Given the description of an element on the screen output the (x, y) to click on. 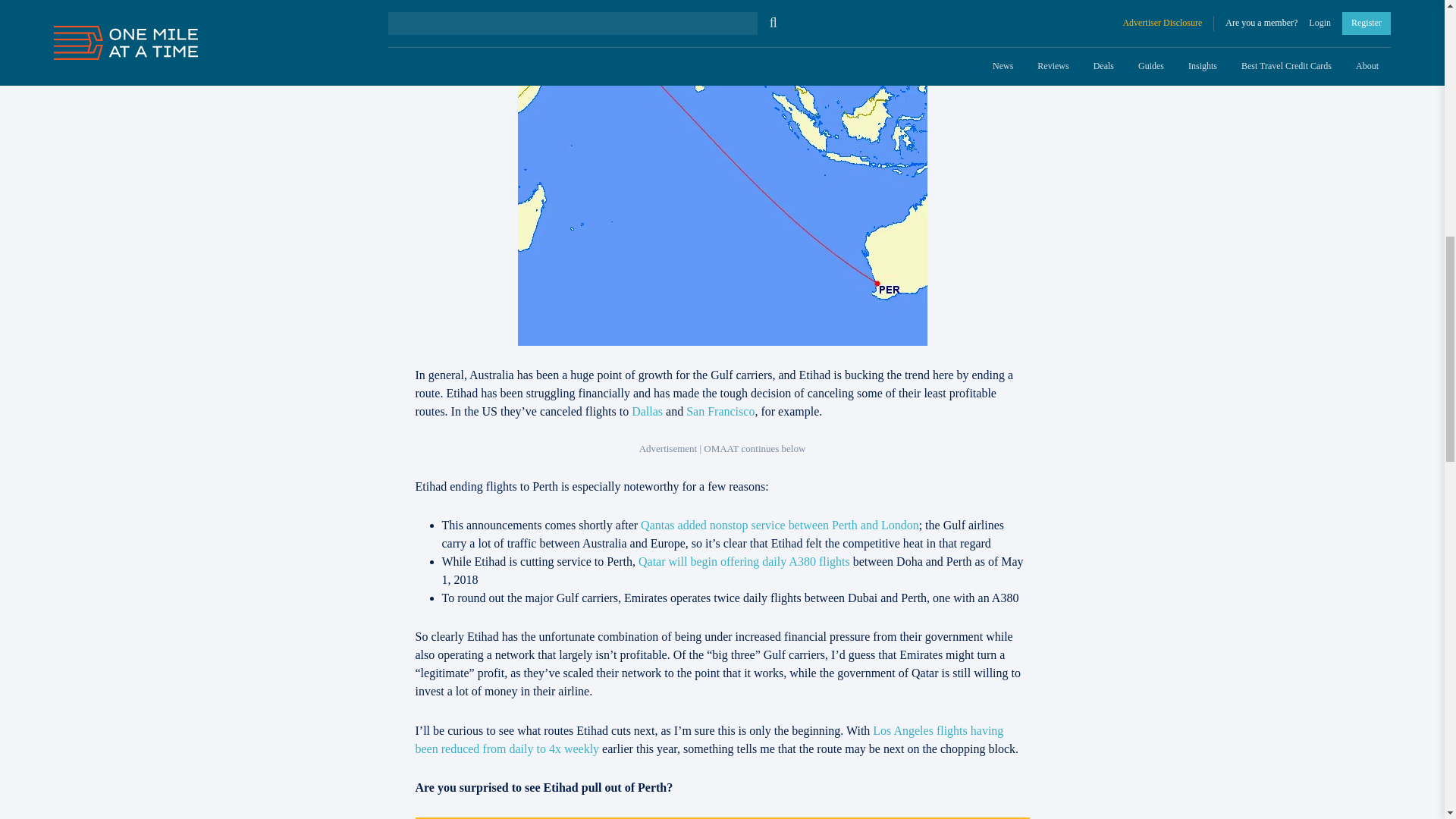
Dallas (646, 410)
San Francisco (719, 410)
